Given the description of an element on the screen output the (x, y) to click on. 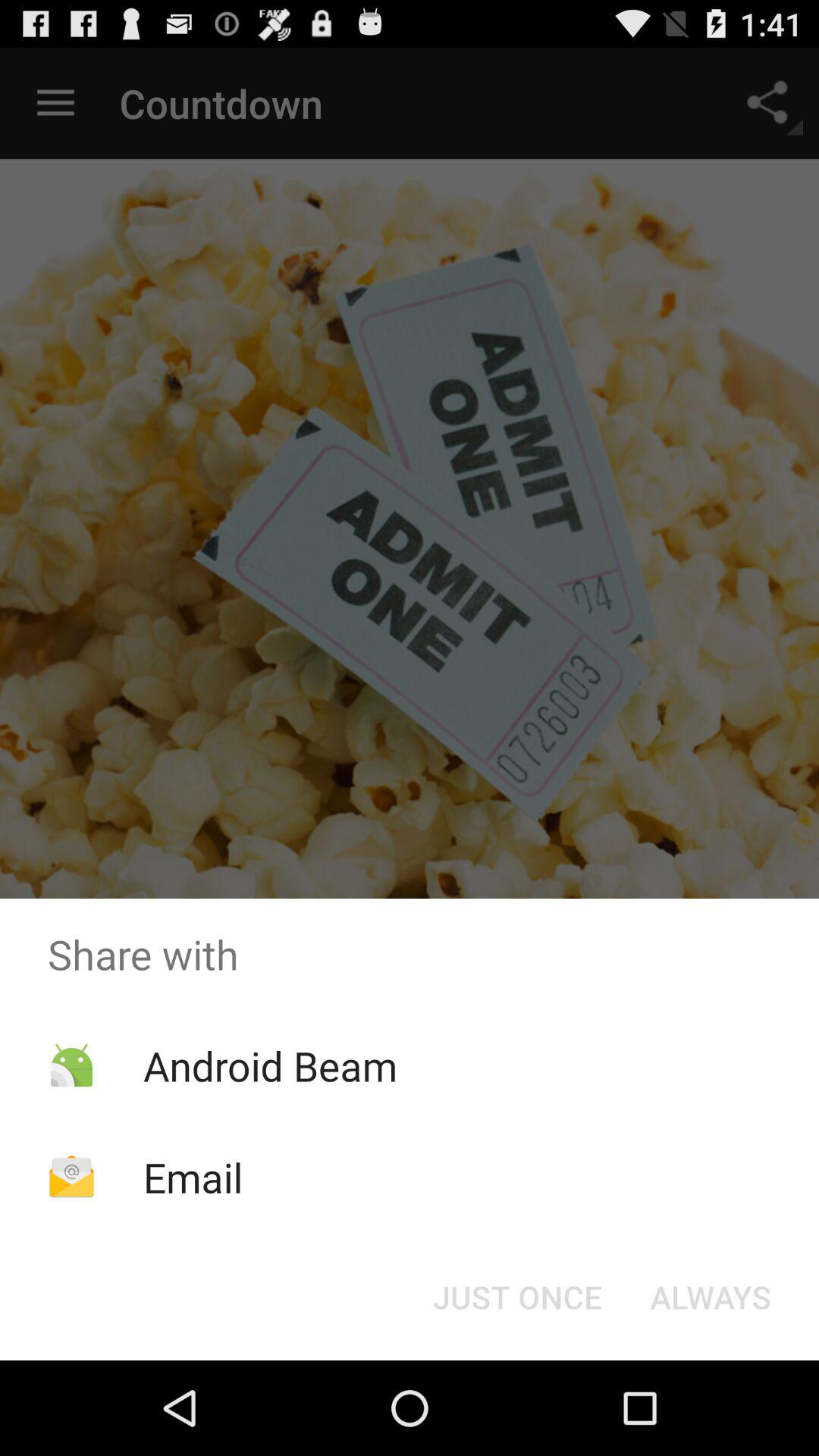
select the app below android beam icon (192, 1176)
